Given the description of an element on the screen output the (x, y) to click on. 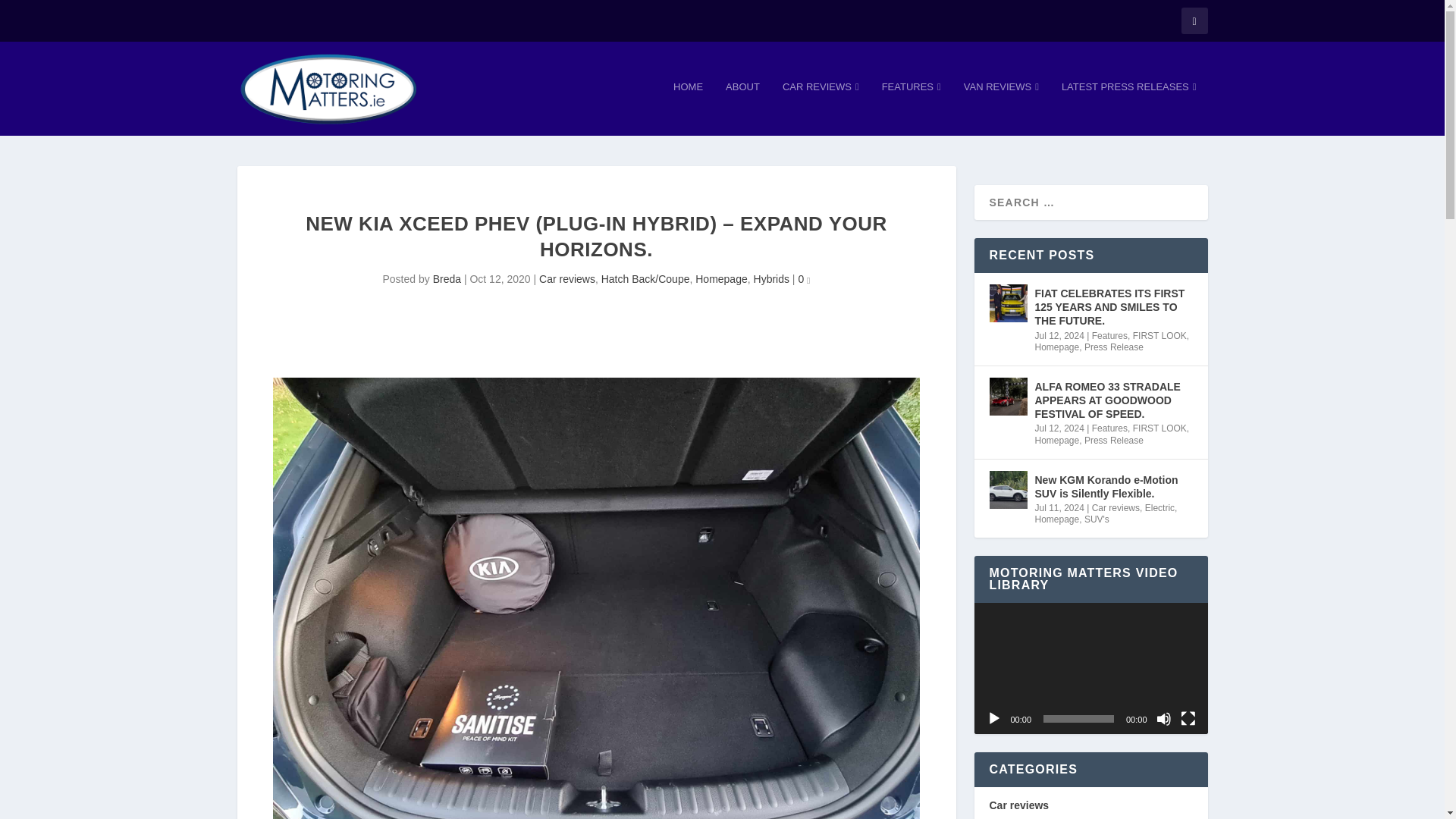
FEATURES (911, 108)
RECENT (1034, 140)
CAR REVIEWS (821, 108)
